Given the description of an element on the screen output the (x, y) to click on. 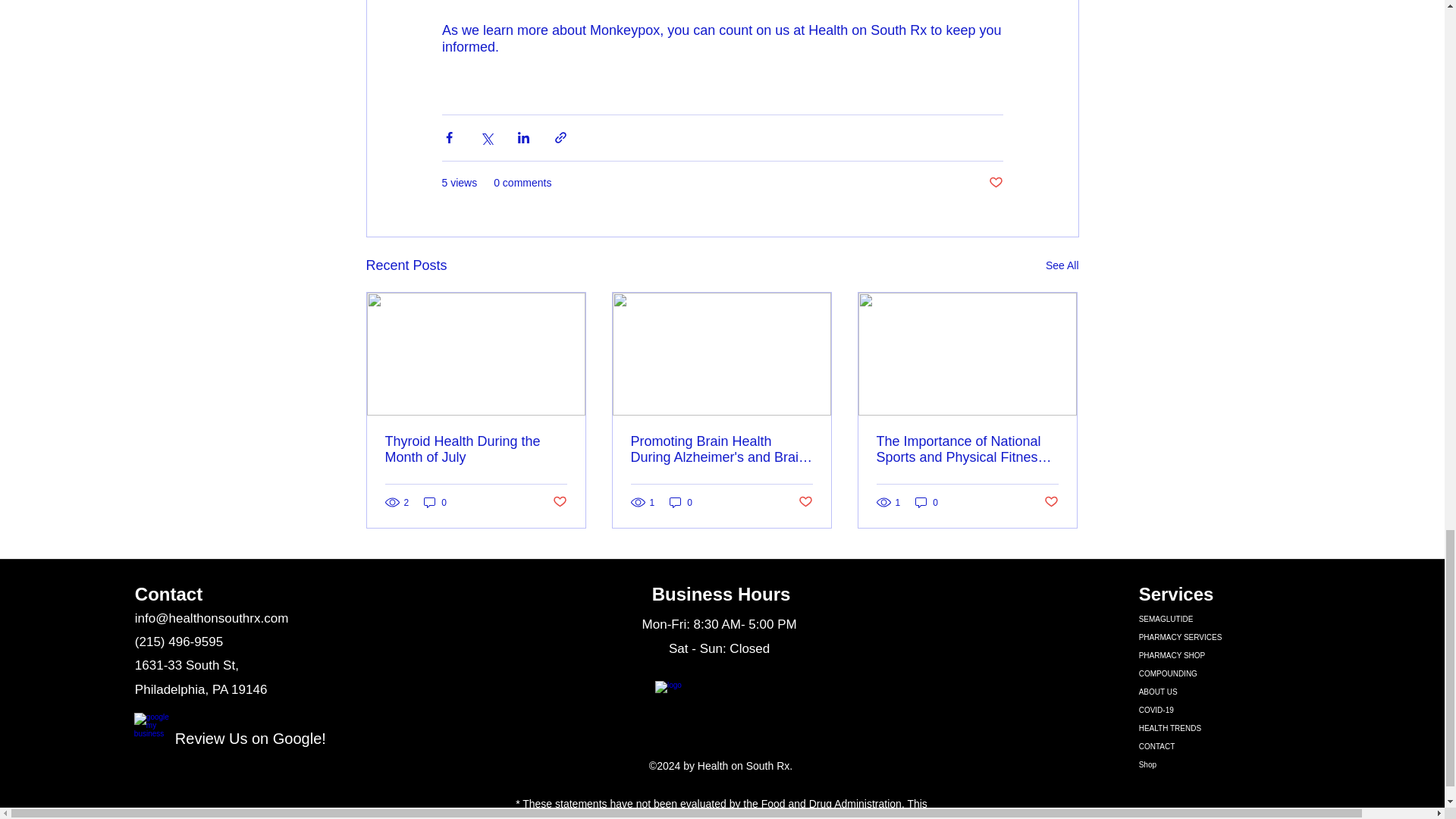
Post not marked as liked (558, 502)
Post not marked as liked (995, 182)
0 (681, 502)
0 (435, 502)
See All (1061, 265)
Thyroid Health During the Month of July (476, 450)
Post not marked as liked (804, 502)
